Given the description of an element on the screen output the (x, y) to click on. 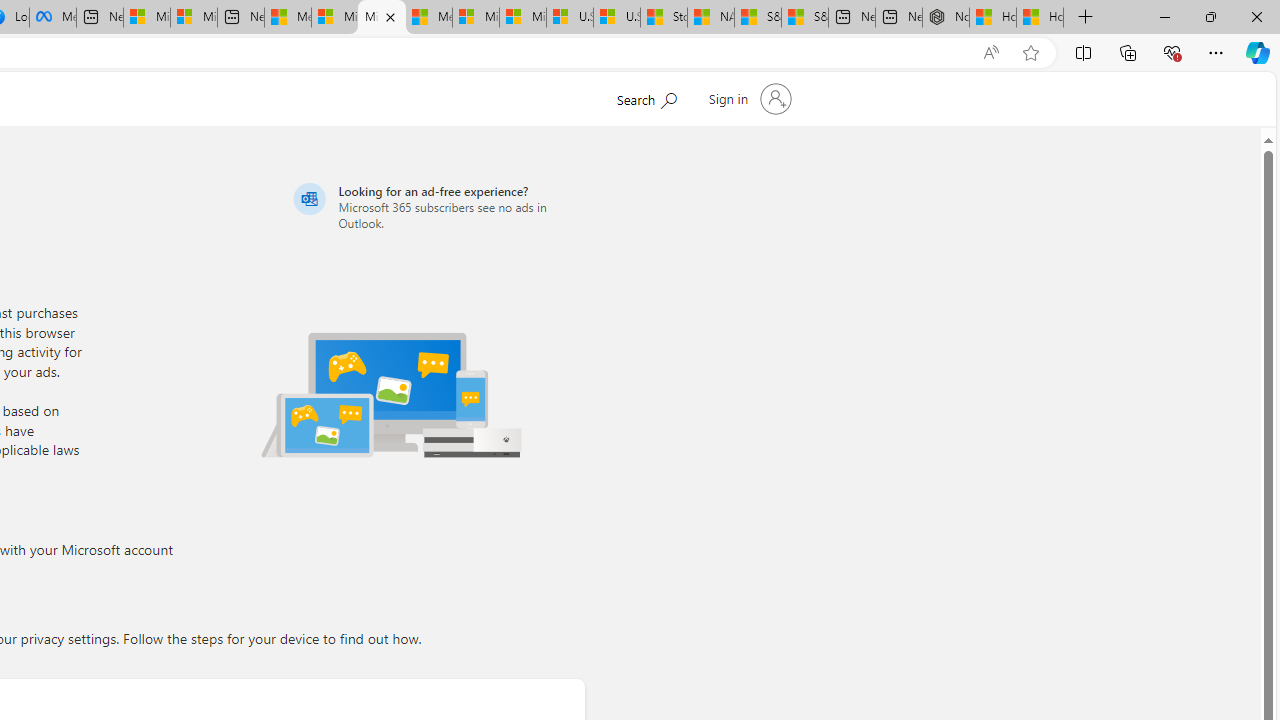
Sign in to your account (748, 98)
Illustration of multiple devices (391, 394)
Meta Store (52, 17)
Looking for an ad-free experience? (436, 206)
